Given the description of an element on the screen output the (x, y) to click on. 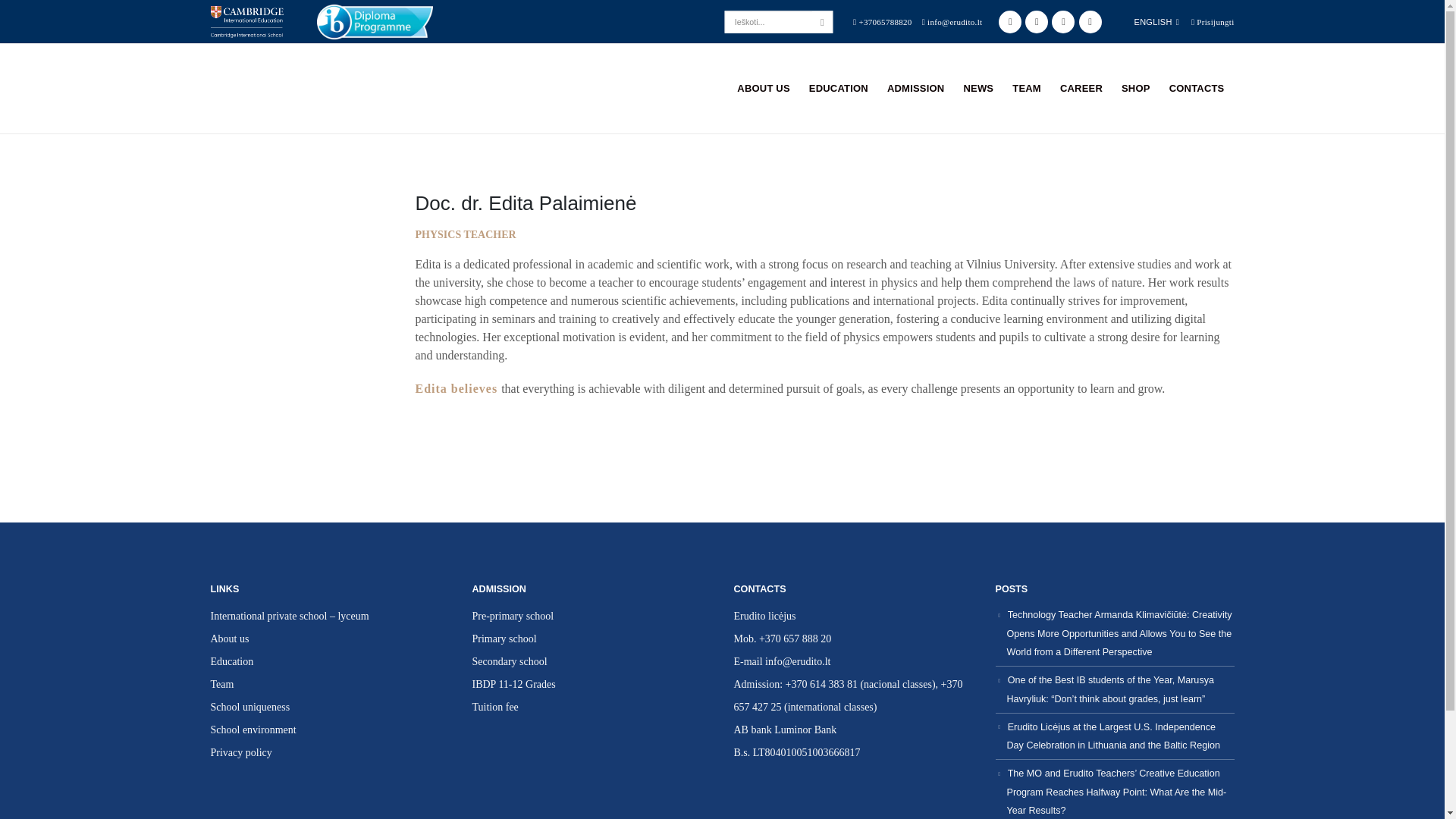
TEAM (1026, 88)
NEWS (978, 88)
Prisijungti (1212, 20)
EDUCATION (838, 88)
Facebook (1010, 21)
ABOUT US (763, 88)
ADMISSION (915, 88)
Instagram (1062, 21)
LinkedIn (1090, 21)
Youtube (1036, 21)
